Given the description of an element on the screen output the (x, y) to click on. 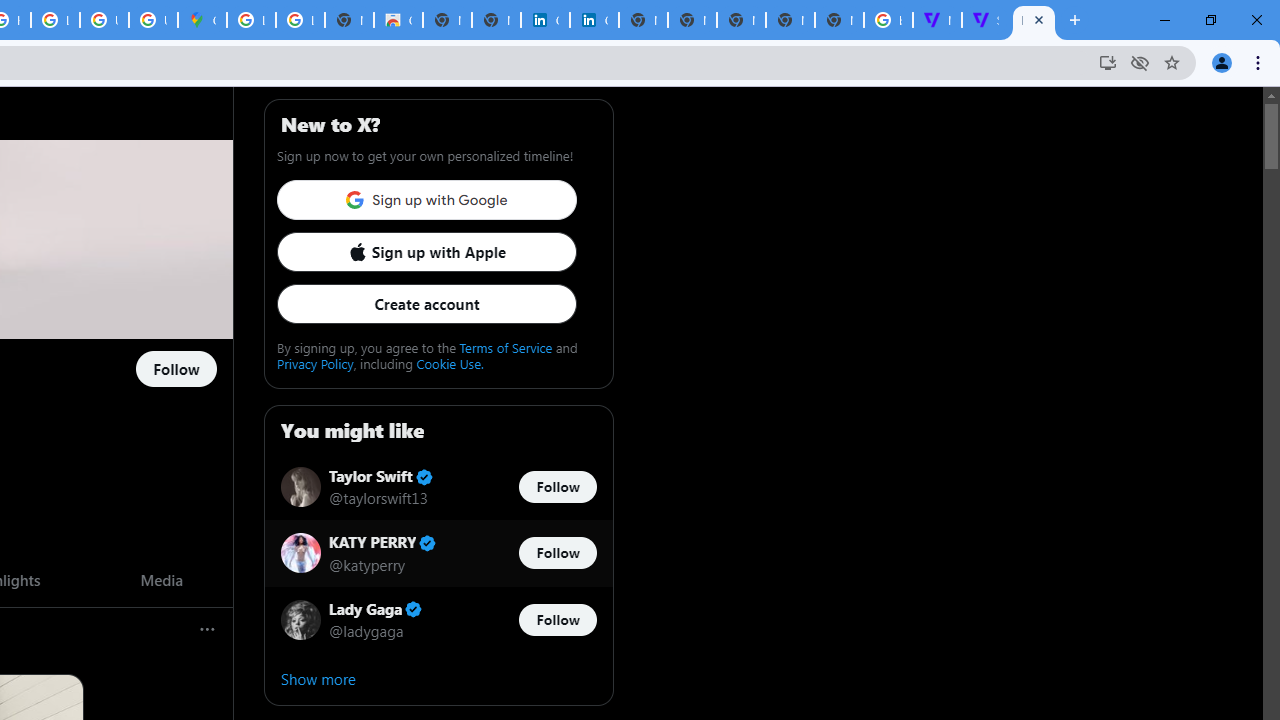
@taylorswift13 (377, 498)
Chrome Web Store (398, 20)
